Given the description of an element on the screen output the (x, y) to click on. 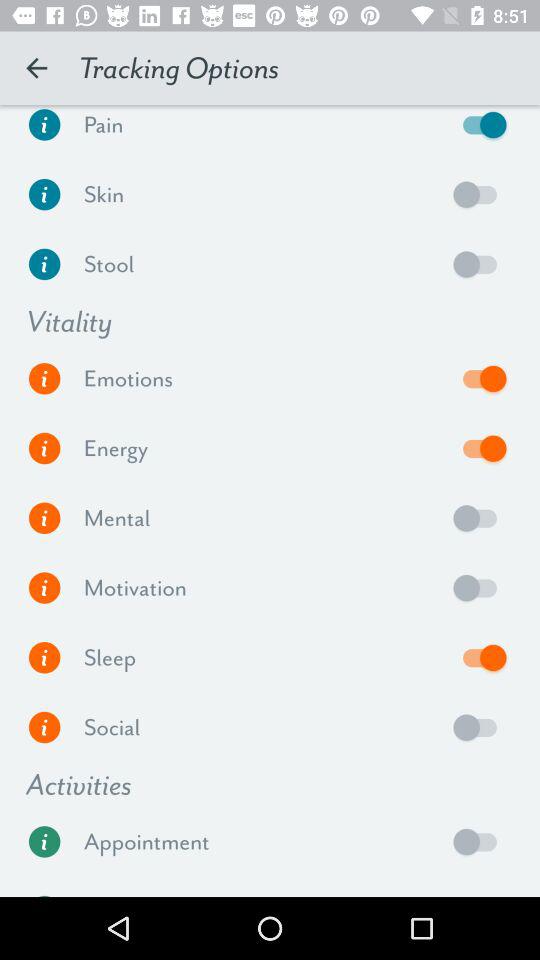
go back to stool (479, 264)
